Given the description of an element on the screen output the (x, y) to click on. 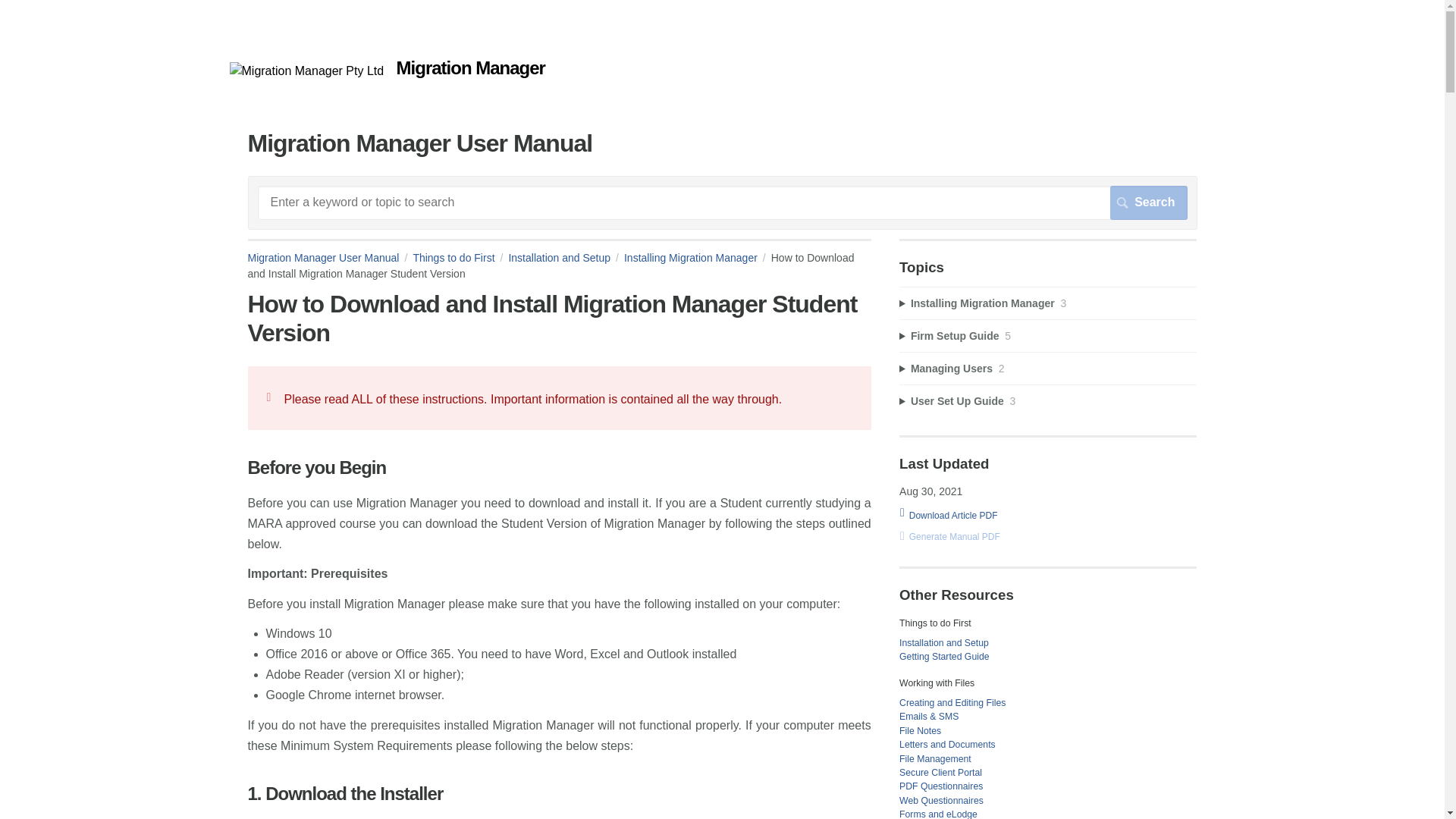
Search (1147, 202)
Things to do First (460, 257)
Search (1147, 202)
Migration Manager User Manual (306, 70)
Installation and Setup (566, 257)
Migration Manager User Manual (329, 257)
Installing Migration Manager (697, 257)
Search (1147, 202)
